Given the description of an element on the screen output the (x, y) to click on. 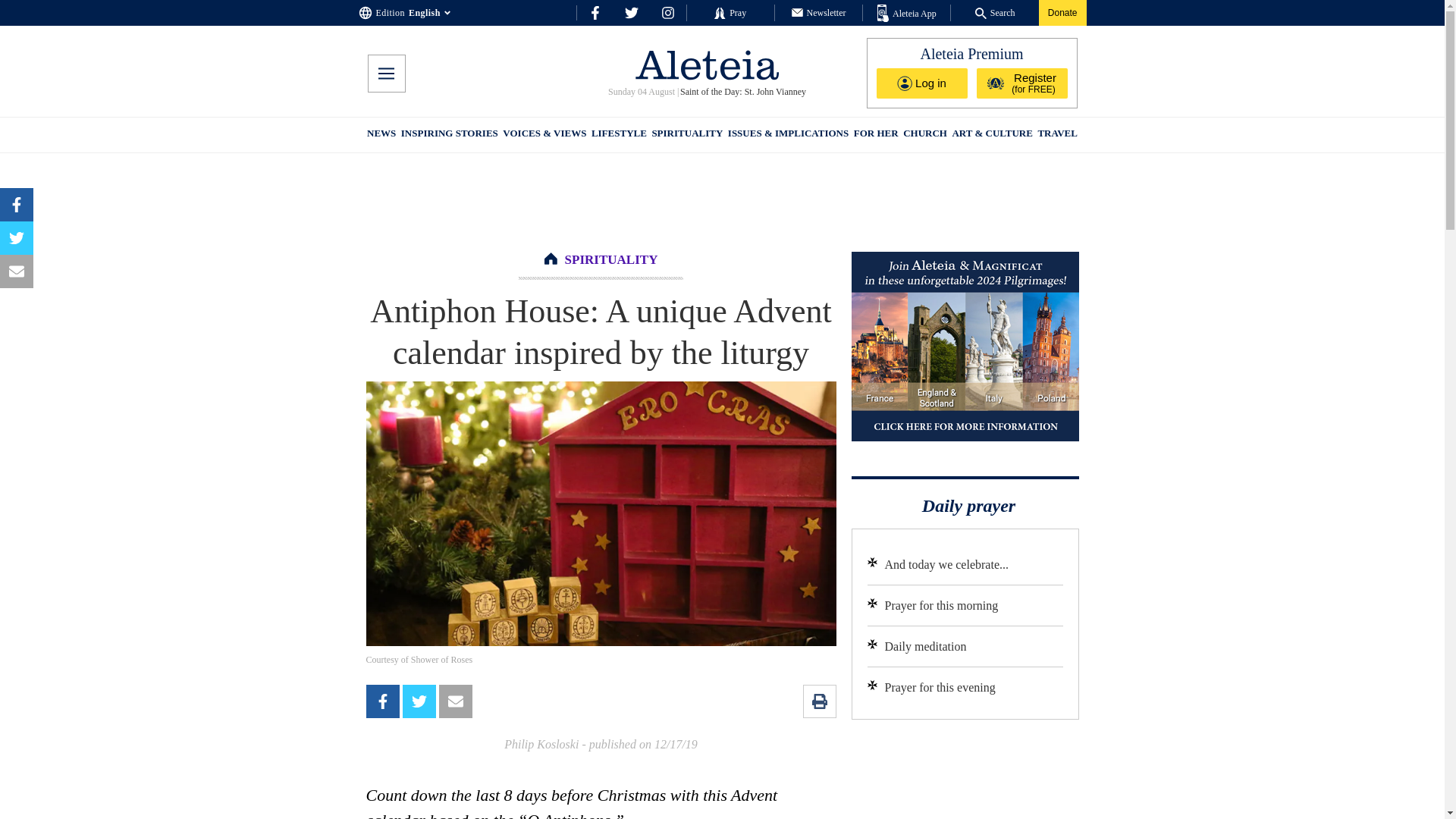
SPIRITUALITY (686, 134)
social-tw-top-row (631, 12)
FOR HER (875, 134)
Aleteia App (906, 13)
LIFESTYLE (618, 134)
Saint of the Day: St. John Vianney (742, 91)
mobile-menu-btn (385, 73)
social-fb-top-row (595, 12)
CHURCH (924, 134)
logo-header (706, 64)
